Given the description of an element on the screen output the (x, y) to click on. 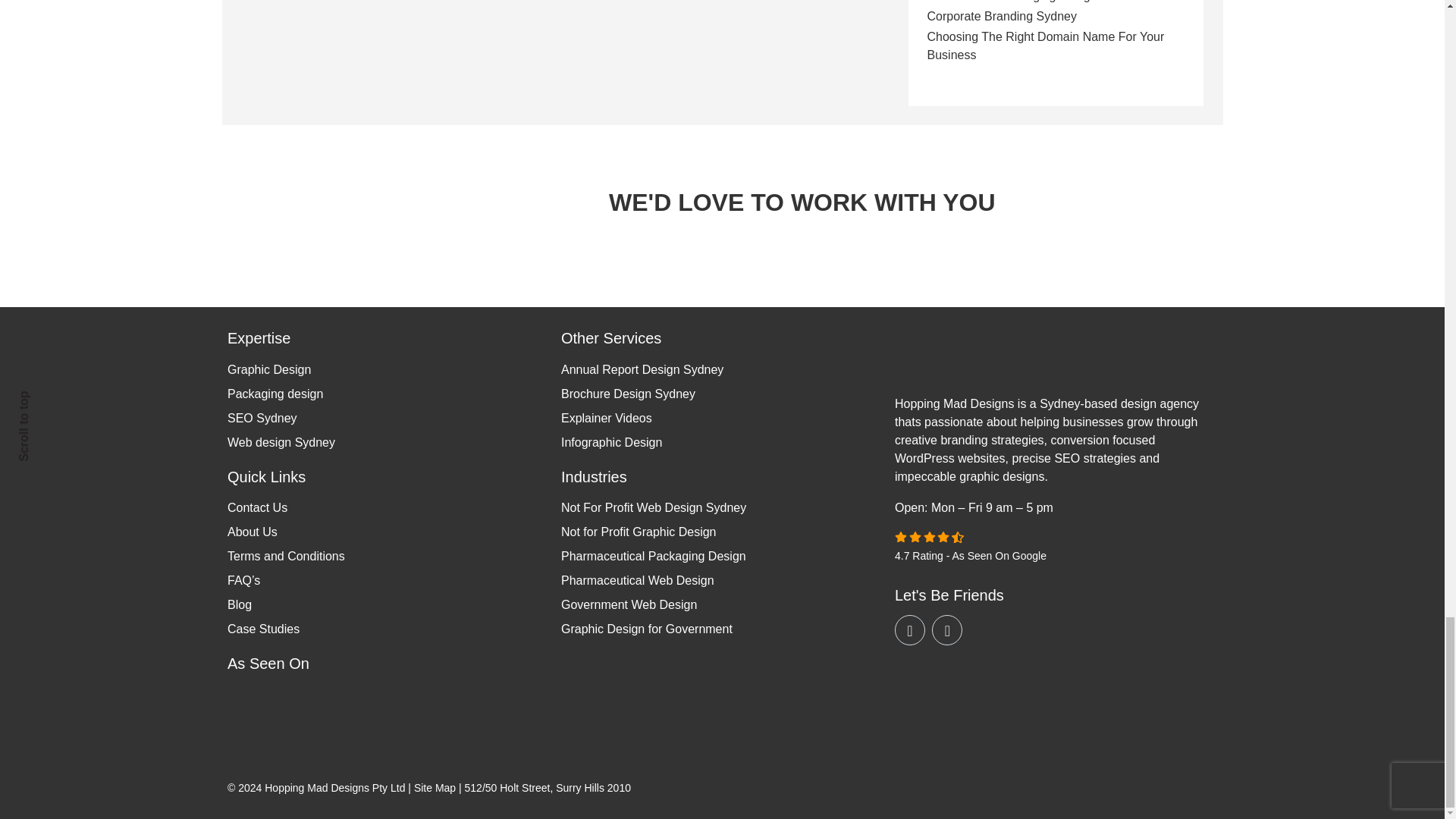
Button: We'd love to work with you (528, 192)
youtube (909, 630)
facebook (946, 630)
